Given the description of an element on the screen output the (x, y) to click on. 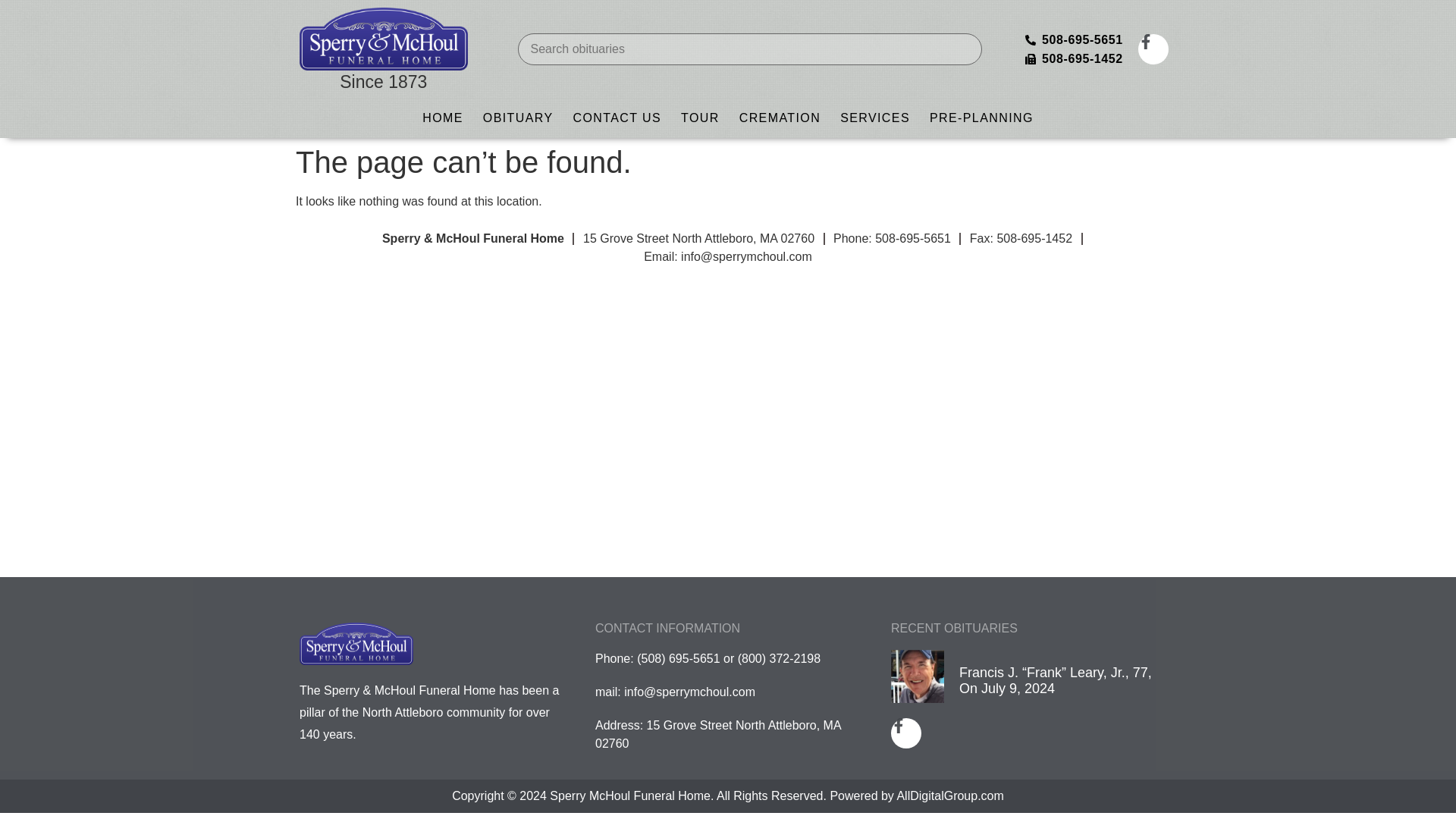
CREMATION (779, 117)
OBITUARY (518, 117)
CONTACT US (617, 117)
PRE-PLANNING (981, 117)
AllDigitalGroup.com (949, 795)
SERVICES (874, 117)
HOME (442, 117)
TOUR (700, 117)
